Given the description of an element on the screen output the (x, y) to click on. 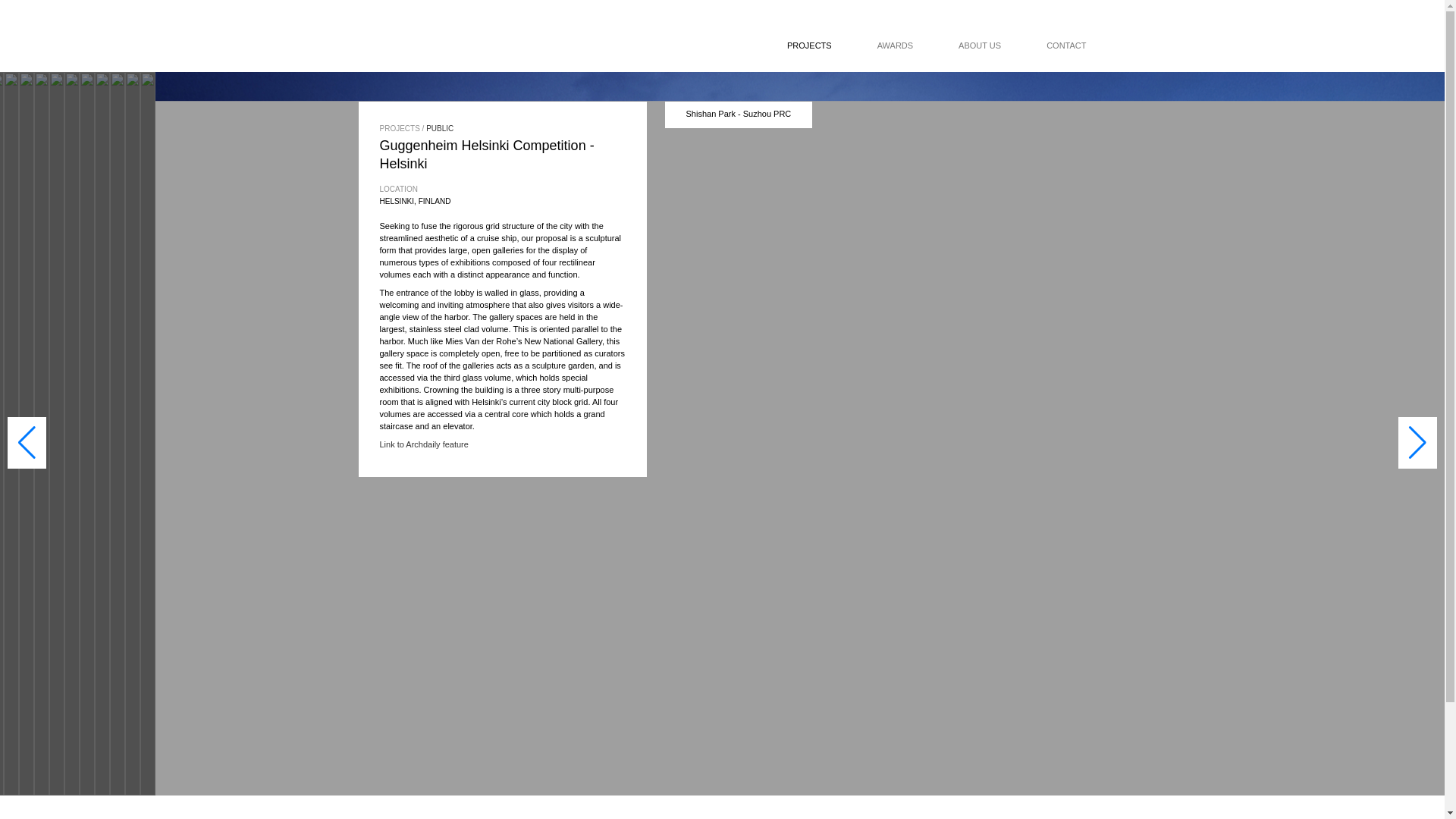
AWARDS (871, 45)
ABOUT US (956, 45)
Link to Archdaily feature (422, 443)
PROJECTS (797, 45)
Link to Archdaily feature (422, 443)
Guida Moseley Brown Architects (484, 45)
Shishan Park - Suzhou PRC (737, 112)
PUBLIC (439, 128)
CONTACT (1043, 45)
